Given the description of an element on the screen output the (x, y) to click on. 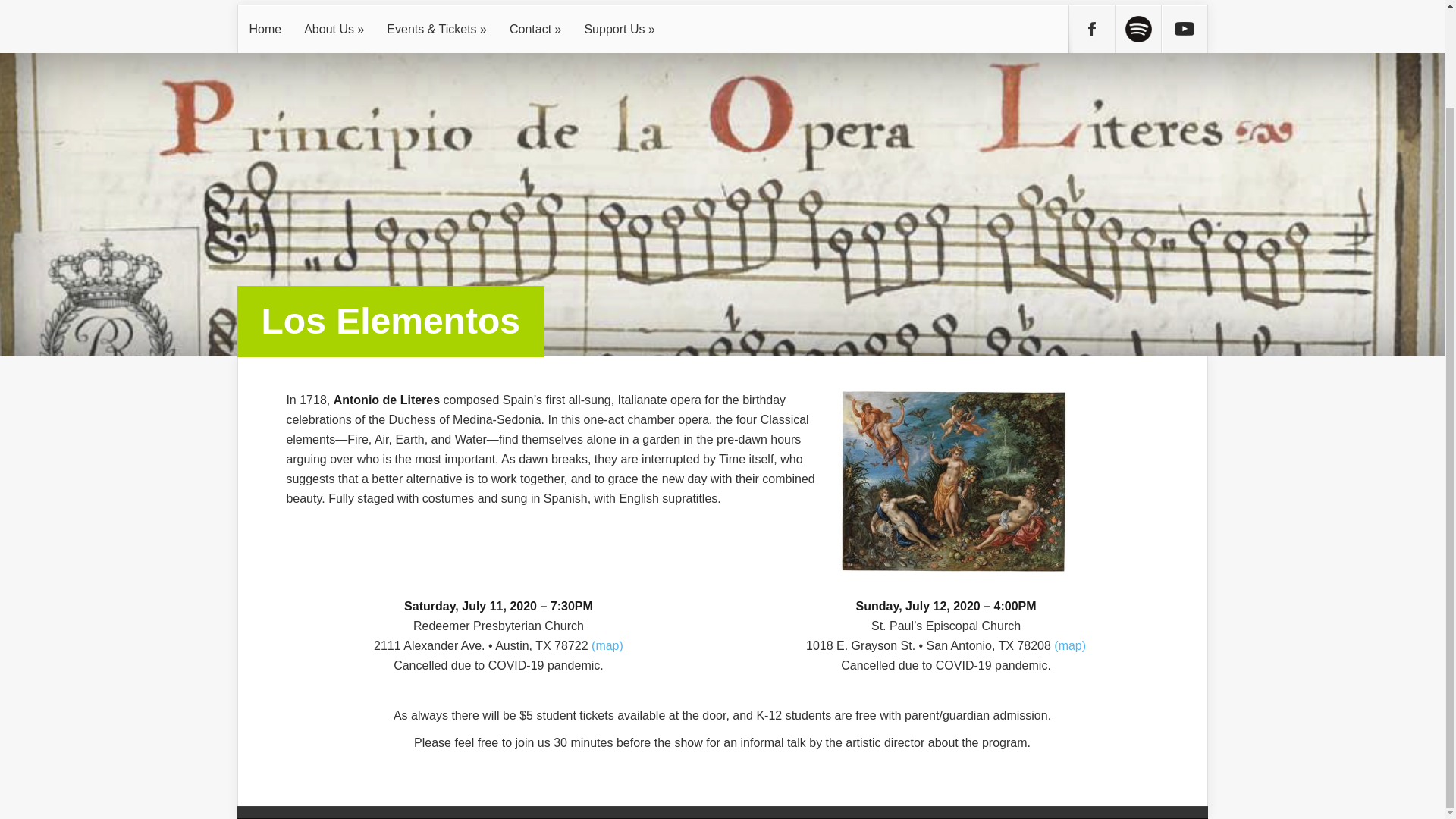
About Us (333, 29)
Home (266, 29)
